Given the description of an element on the screen output the (x, y) to click on. 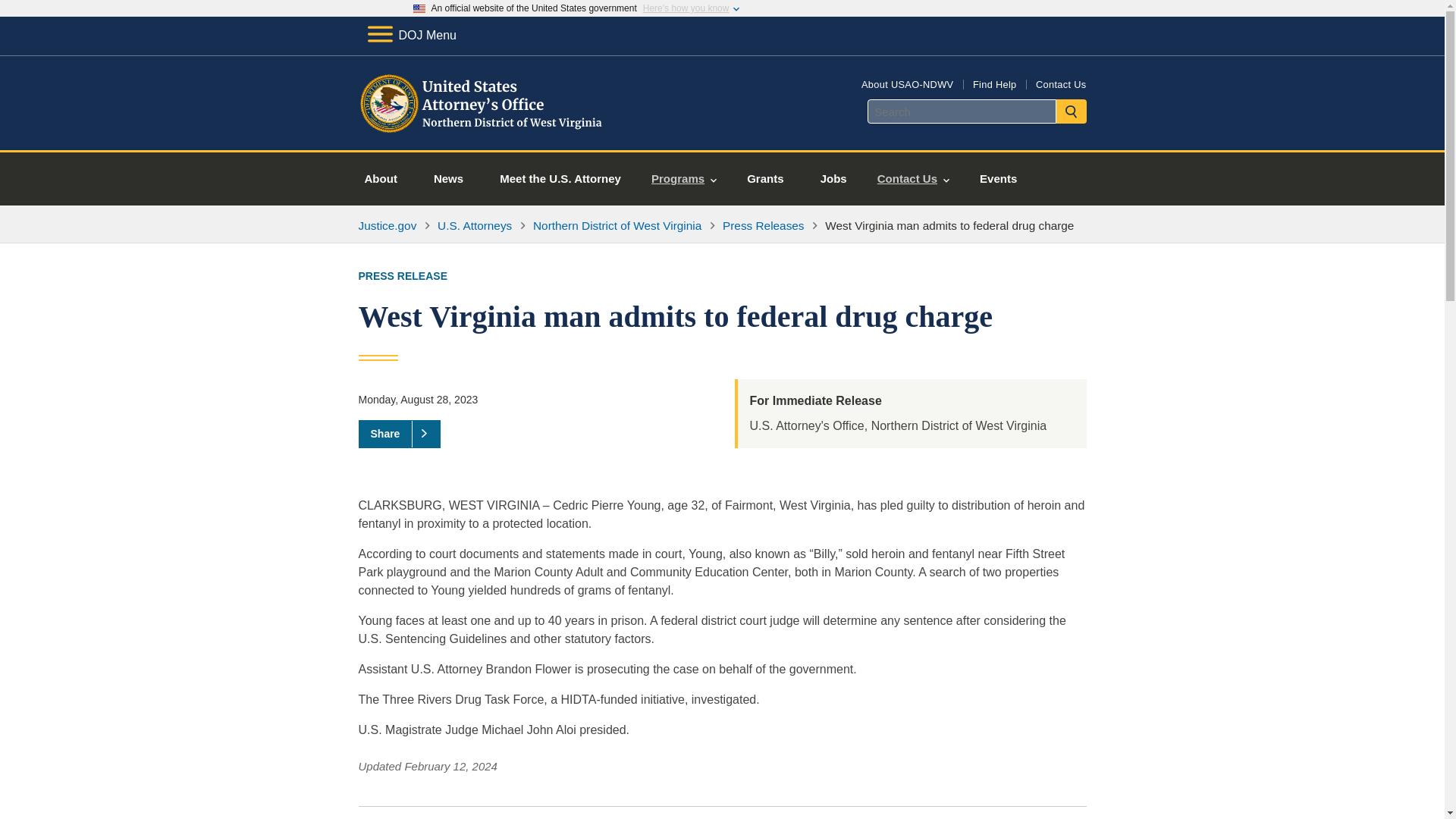
Programs (684, 179)
Justice.gov (387, 225)
Events (997, 179)
About USAO-NDWV (907, 84)
Northern District of West Virginia (616, 225)
Press Releases (763, 225)
Jobs (833, 179)
Here's how you know (686, 8)
Home (481, 132)
Contact Us (1060, 84)
Contact Us (912, 179)
About (380, 179)
Grants (765, 179)
U.S. Attorneys (475, 225)
News (447, 179)
